Given the description of an element on the screen output the (x, y) to click on. 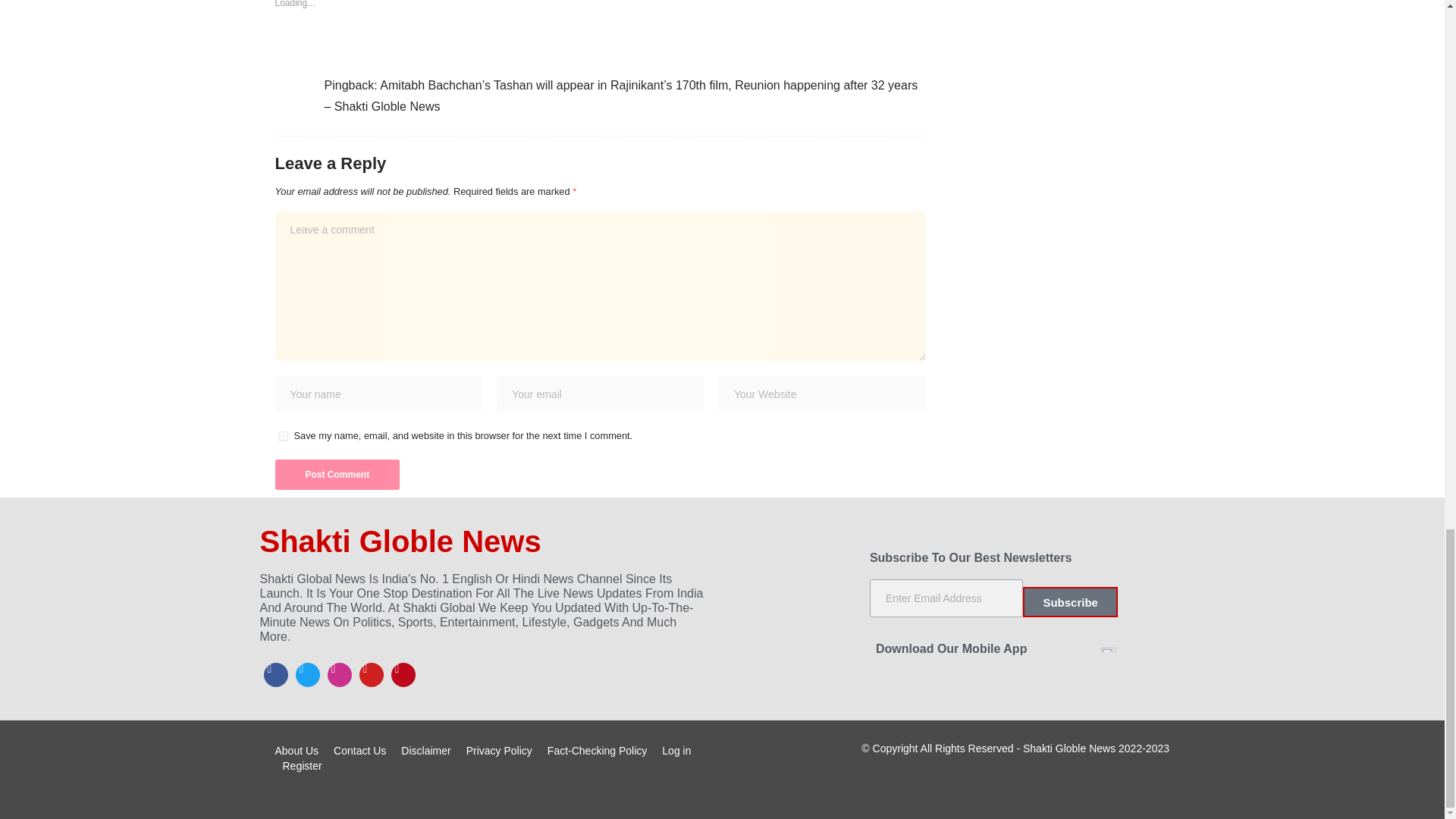
Post Comment (336, 474)
yes (282, 436)
